Given the description of an element on the screen output the (x, y) to click on. 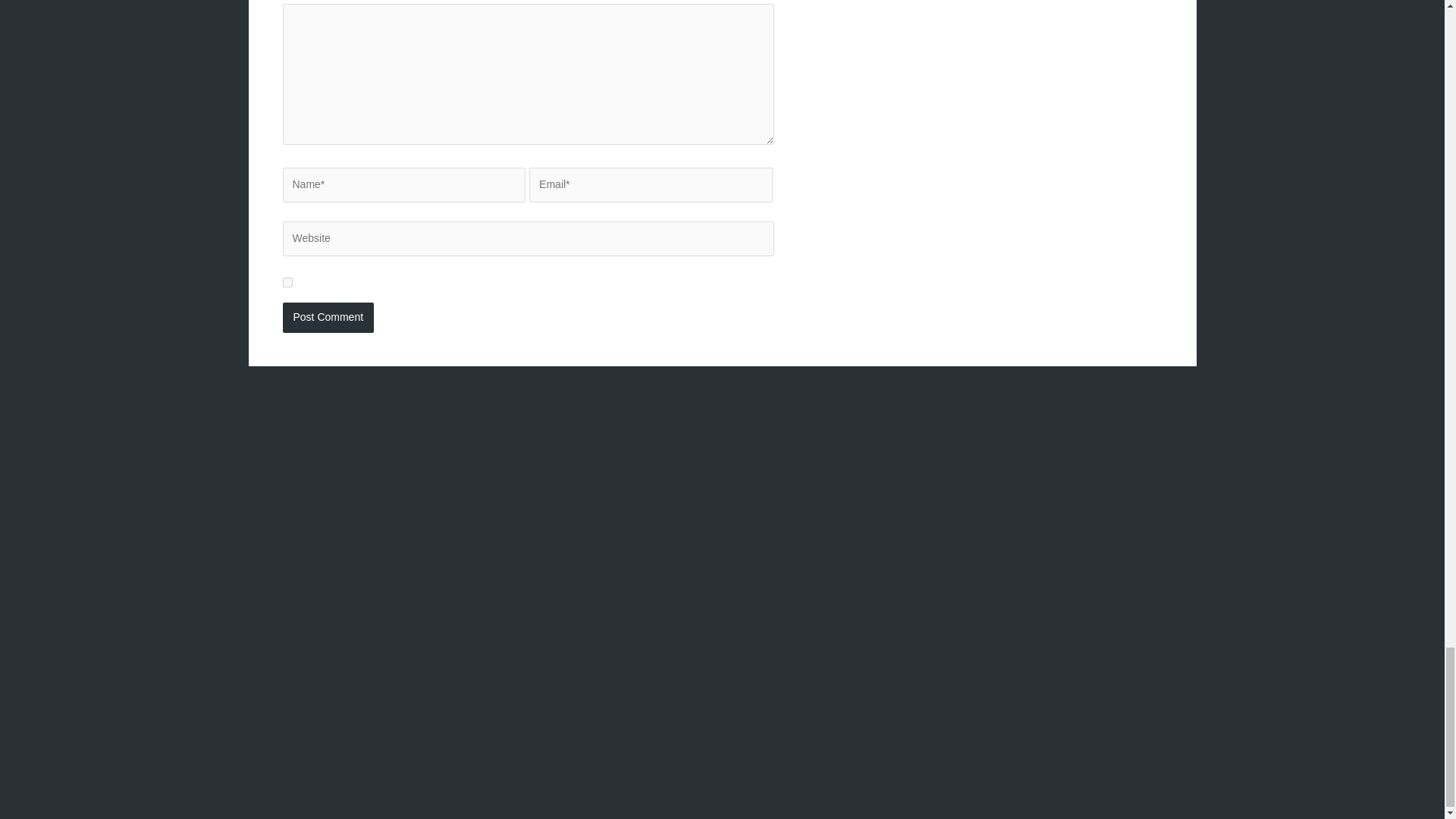
Post Comment (328, 317)
yes (287, 282)
Post Comment (328, 317)
